Given the description of an element on the screen output the (x, y) to click on. 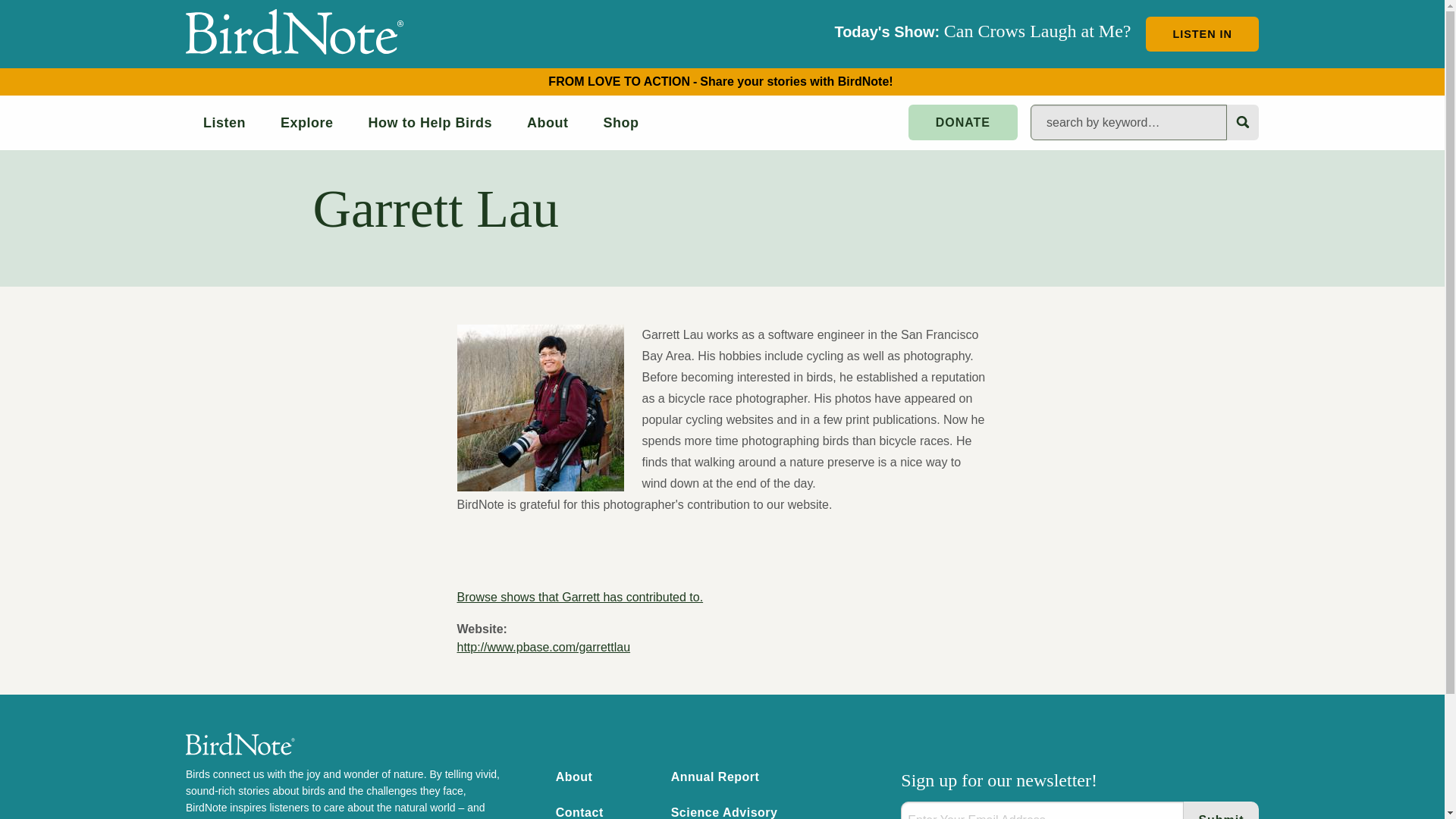
How to Help Birds (430, 122)
Can Crows Laugh at Me? (1037, 30)
Today's Show: Can Crows Laugh at Me? (1202, 33)
LISTEN IN (1202, 33)
Listen (224, 122)
Explore (306, 122)
Enter the terms you wish to search for. (1128, 122)
Home (295, 31)
FROM LOVE TO ACTION-Share your stories with BirdNote! (721, 81)
